Given the description of an element on the screen output the (x, y) to click on. 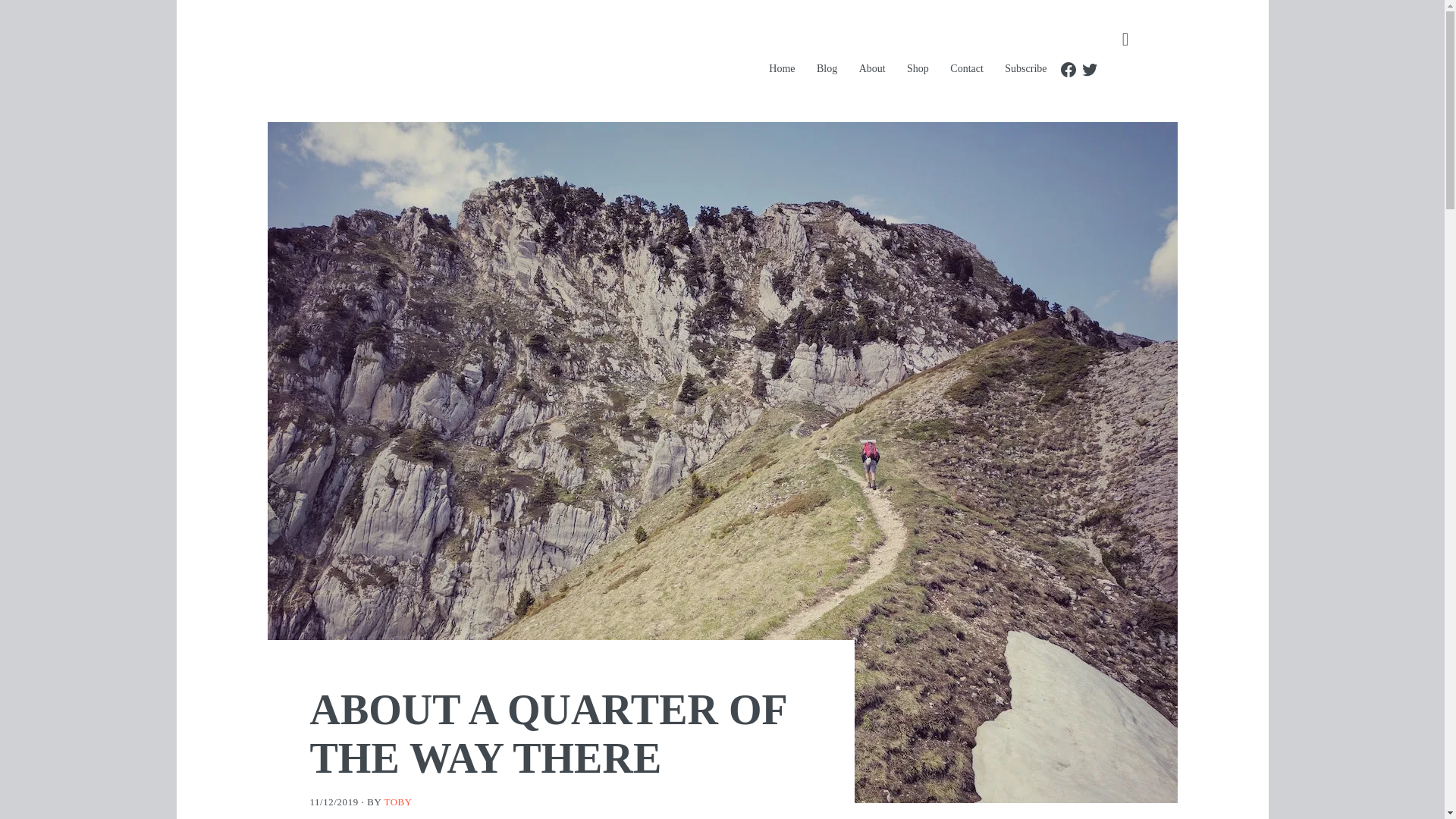
HAVING TWO LEGS (534, 60)
TOBY (398, 801)
